Given the description of an element on the screen output the (x, y) to click on. 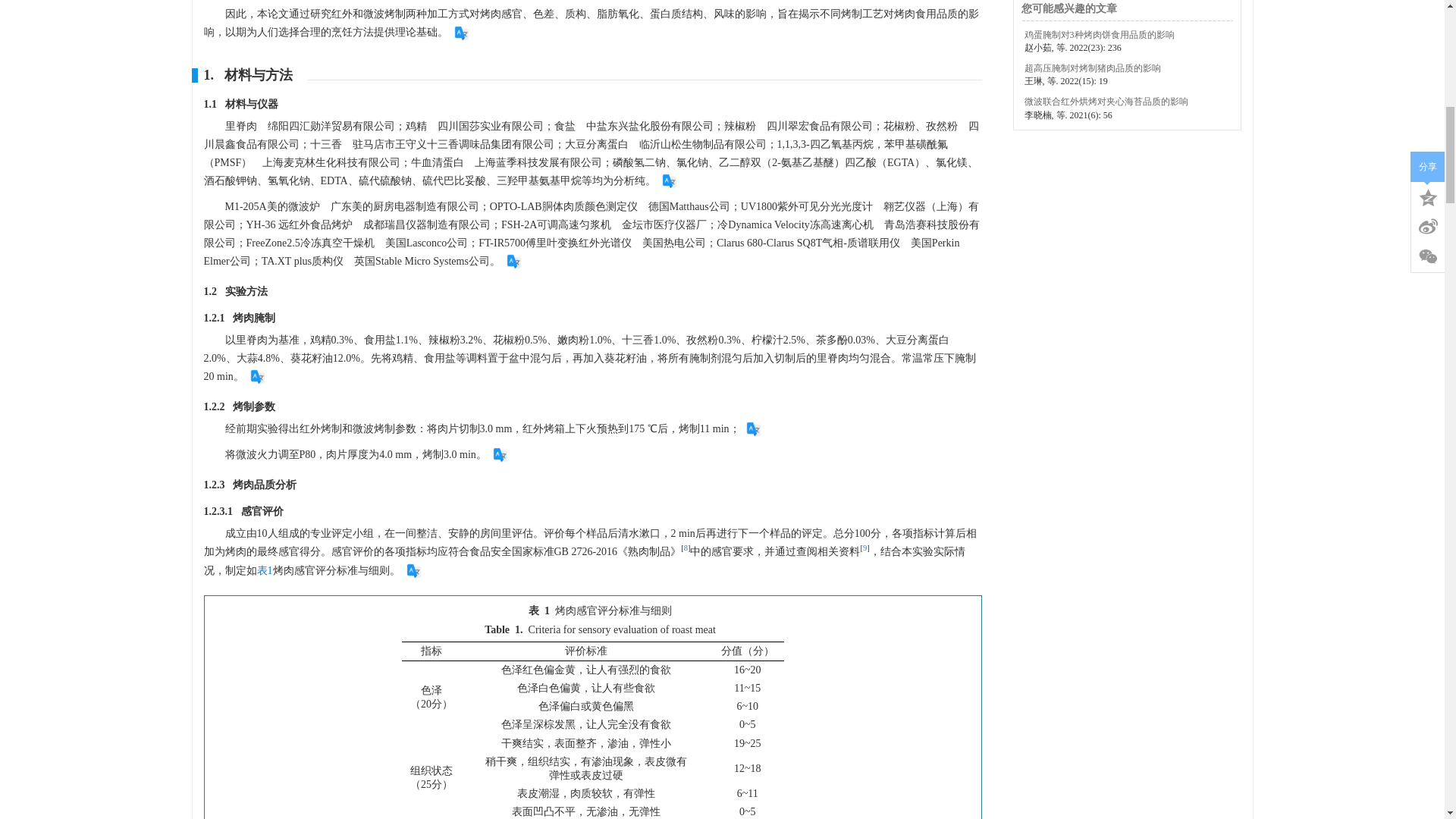
Translate this paragraph (669, 181)
Translate this paragraph (513, 261)
Translate this paragraph (461, 32)
Translate this paragraph (257, 376)
